Given the description of an element on the screen output the (x, y) to click on. 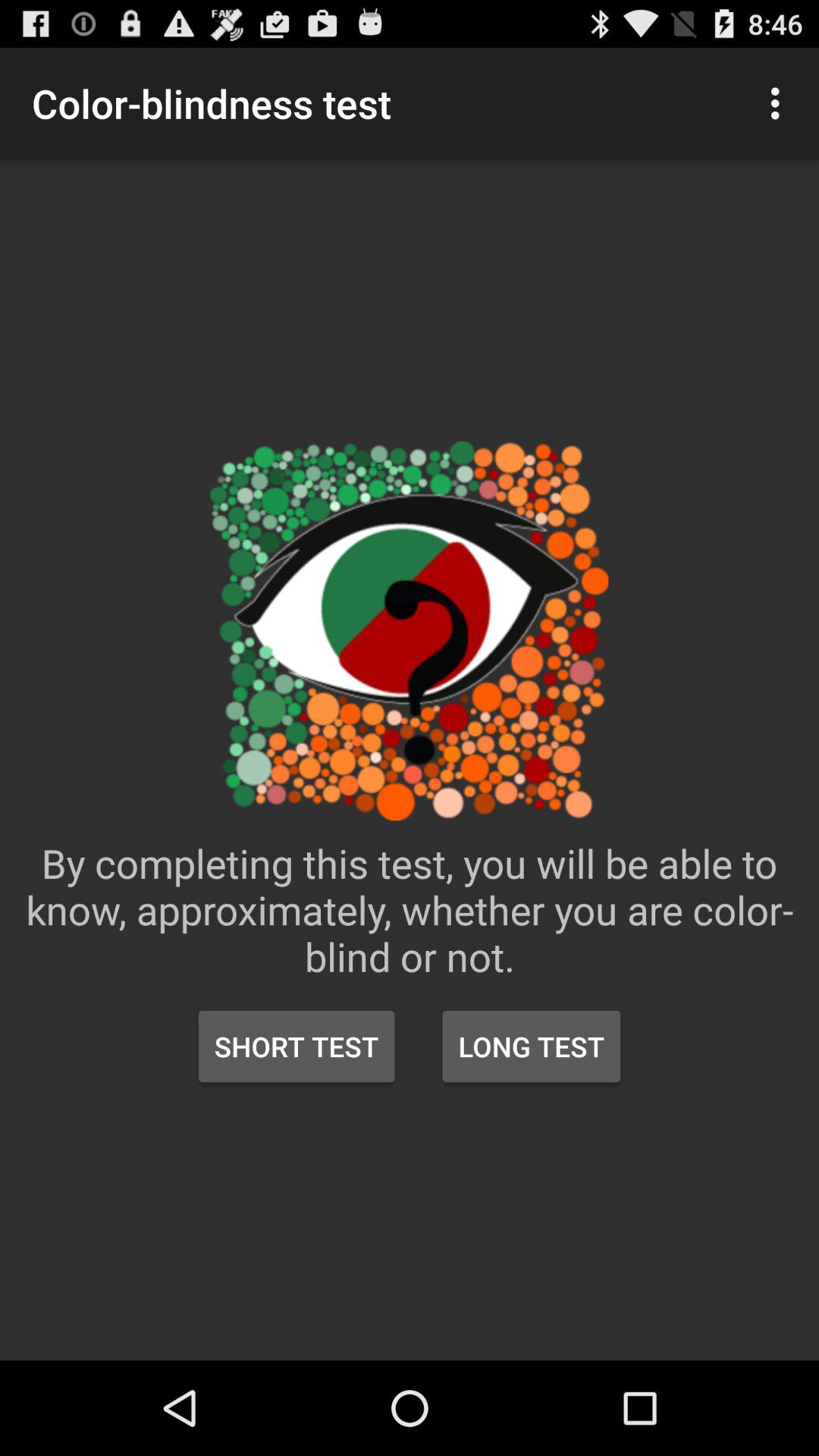
choose the icon below the by completing this (531, 1046)
